Given the description of an element on the screen output the (x, y) to click on. 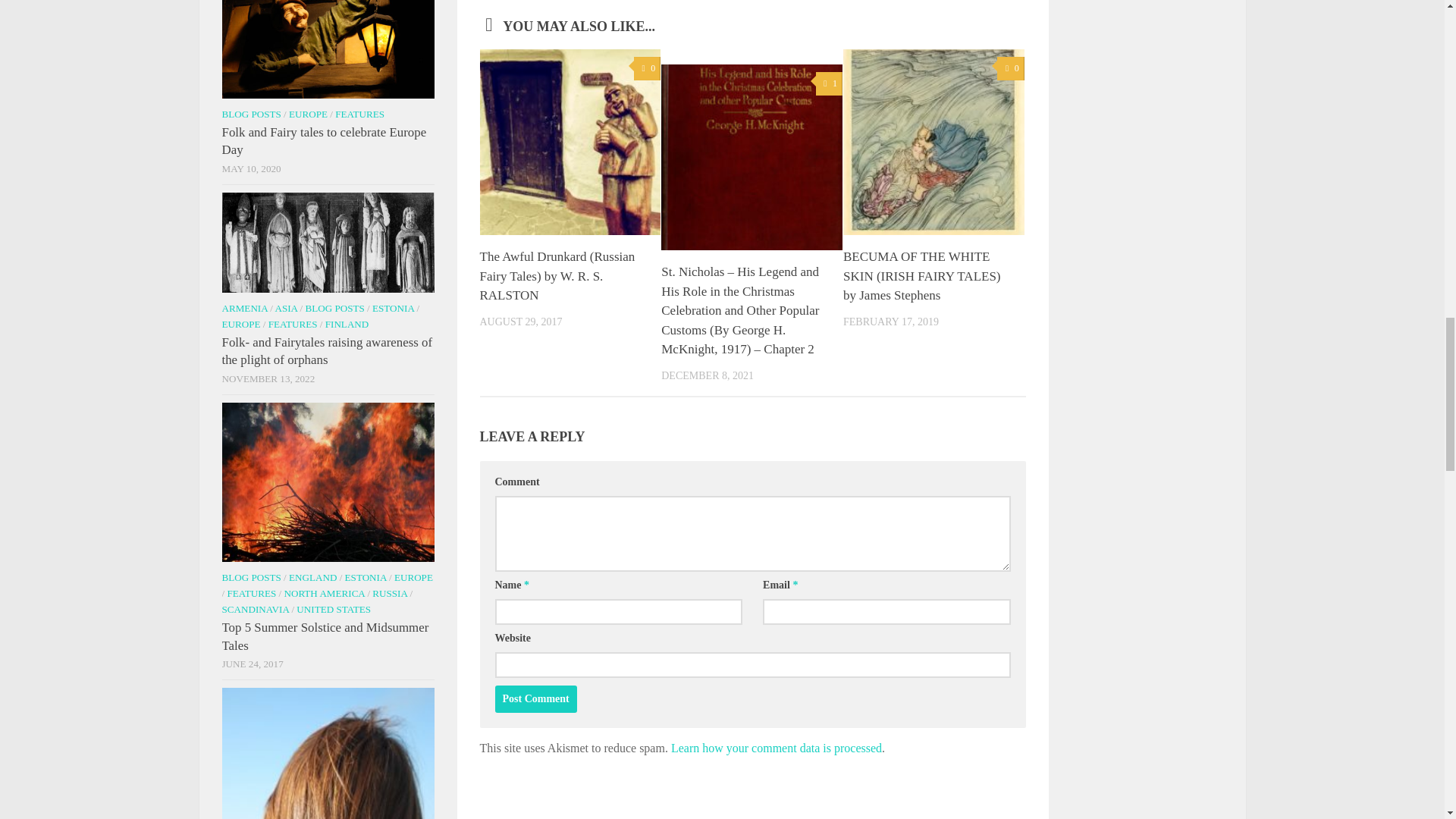
Post Comment (535, 698)
